Given the description of an element on the screen output the (x, y) to click on. 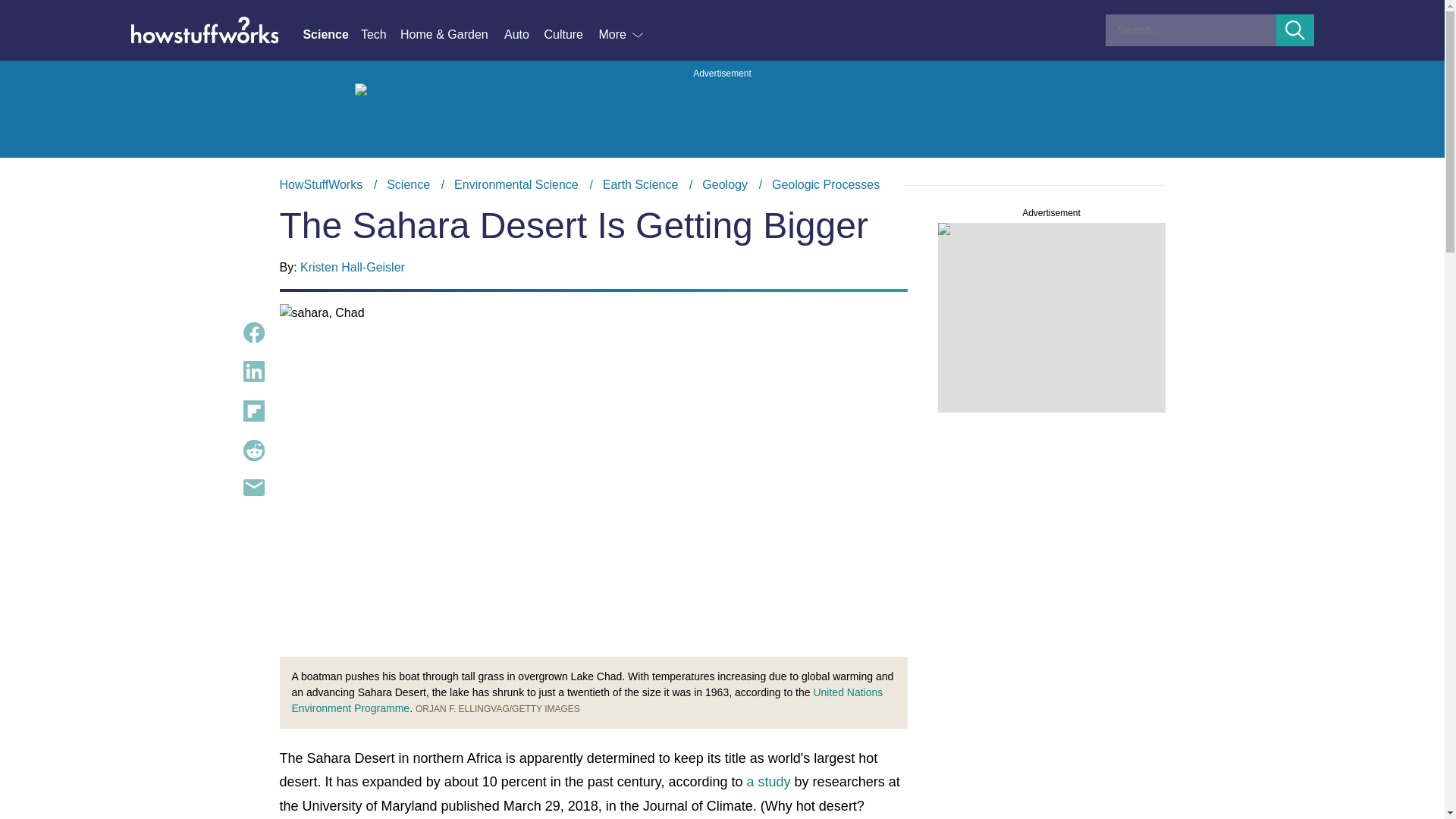
Share Content via Email (253, 487)
Environmental Science (516, 184)
Science (330, 34)
Share Content on LinkedIn (253, 371)
More (621, 34)
Tech (380, 34)
Culture (570, 34)
HowStuffWorks (320, 184)
Share Content on Reddit (253, 450)
Science (408, 184)
